Given the description of an element on the screen output the (x, y) to click on. 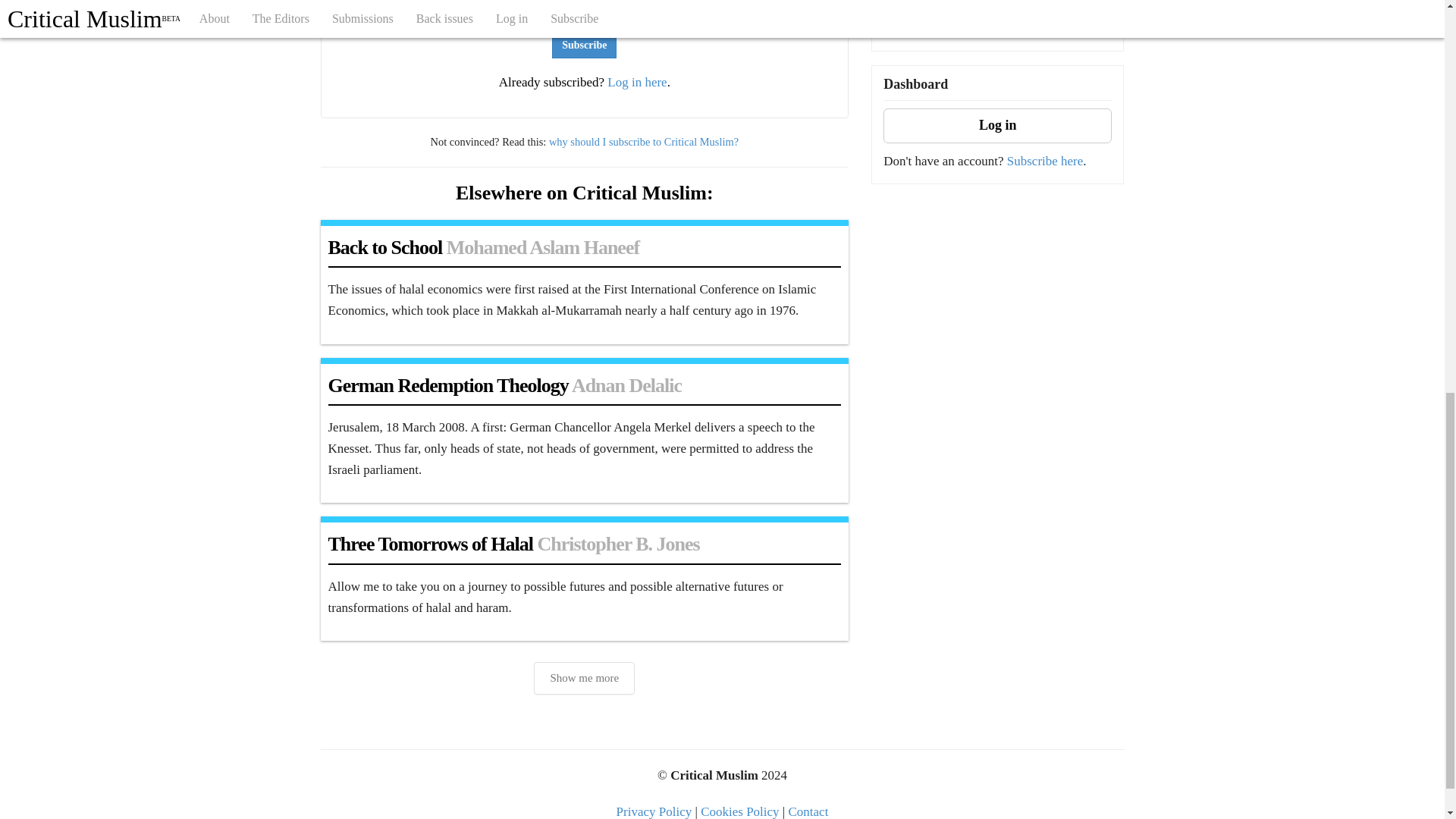
Posts by Christopher B. Jones (617, 544)
Christopher B. Jones (617, 544)
Show me more (584, 677)
Three Tomorrows of Halal (429, 544)
Posts by Mohamed Aslam Haneef (542, 247)
Back to School (384, 247)
German Redemption Theology (447, 385)
Posts by Adnan Delalic (626, 385)
Back to School (384, 247)
Adnan Delalic (626, 385)
Log in here (636, 82)
Three Tomorrows of Halal (429, 544)
why should I subscribe to Critical Muslim? (643, 141)
German Redemption Theology (447, 385)
Mohamed Aslam Haneef (542, 247)
